Given the description of an element on the screen output the (x, y) to click on. 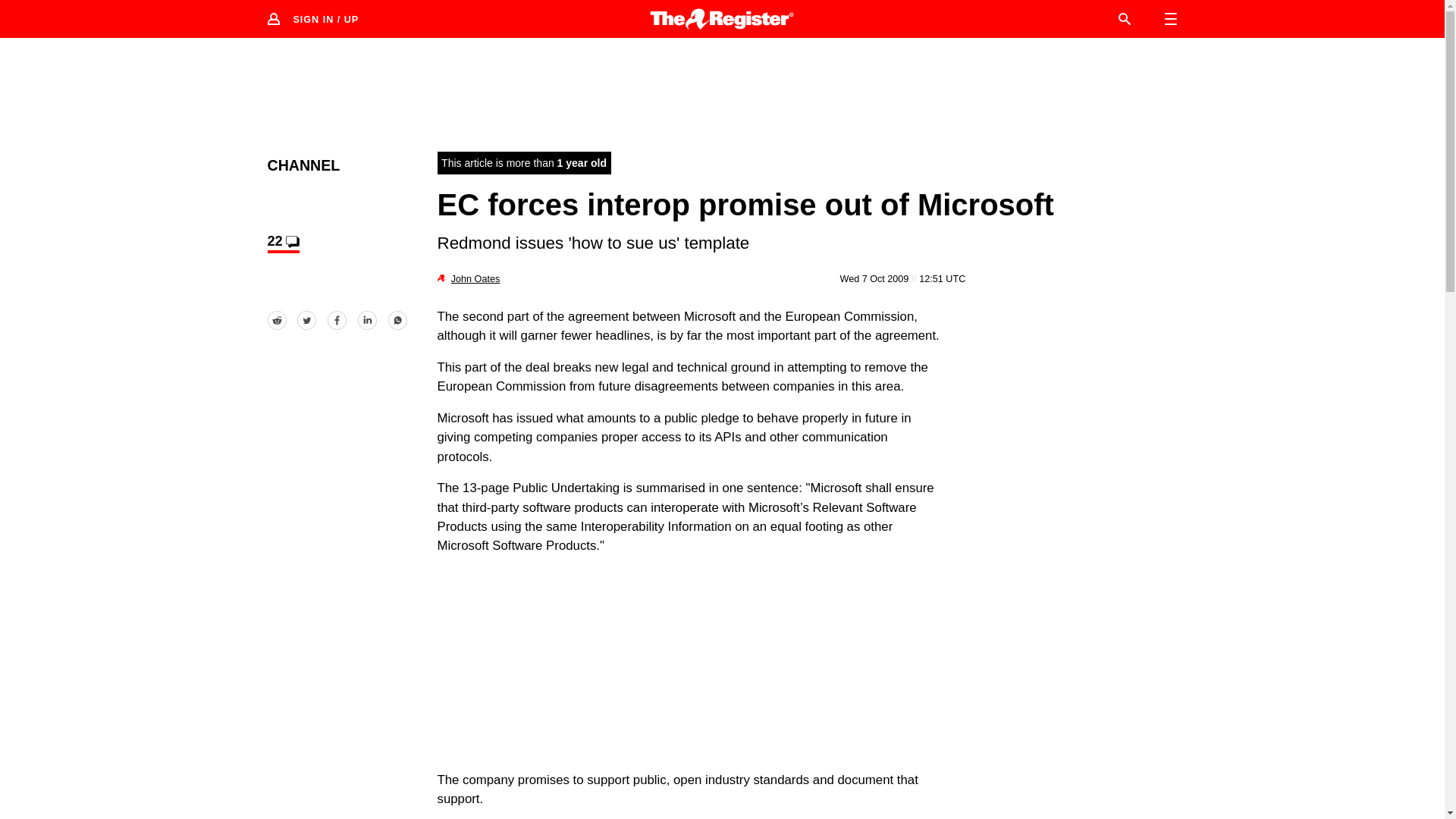
Read more by this author (475, 278)
View comments on this article (282, 243)
